Given the description of an element on the screen output the (x, y) to click on. 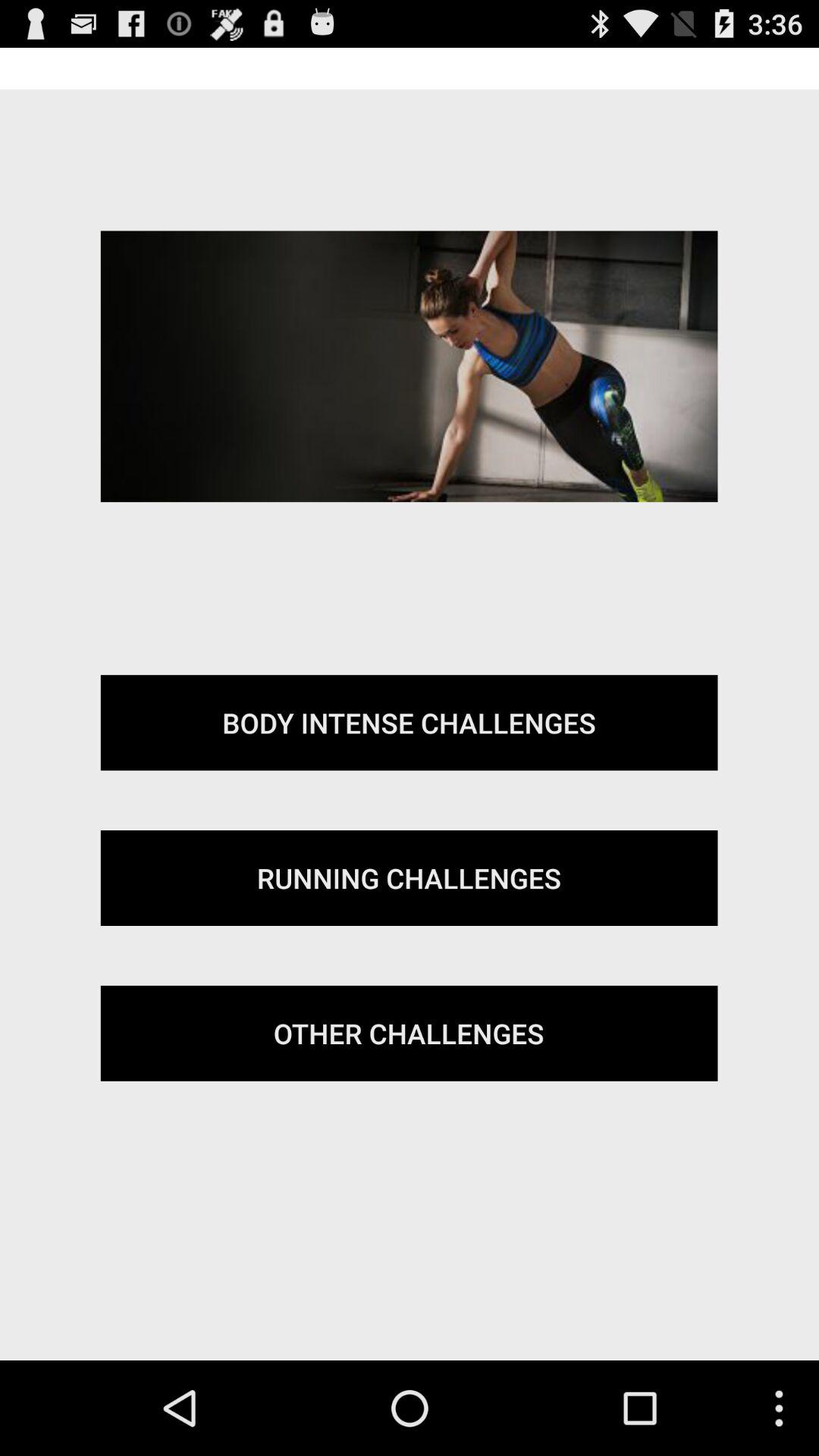
jump until other challenges icon (408, 1033)
